Given the description of an element on the screen output the (x, y) to click on. 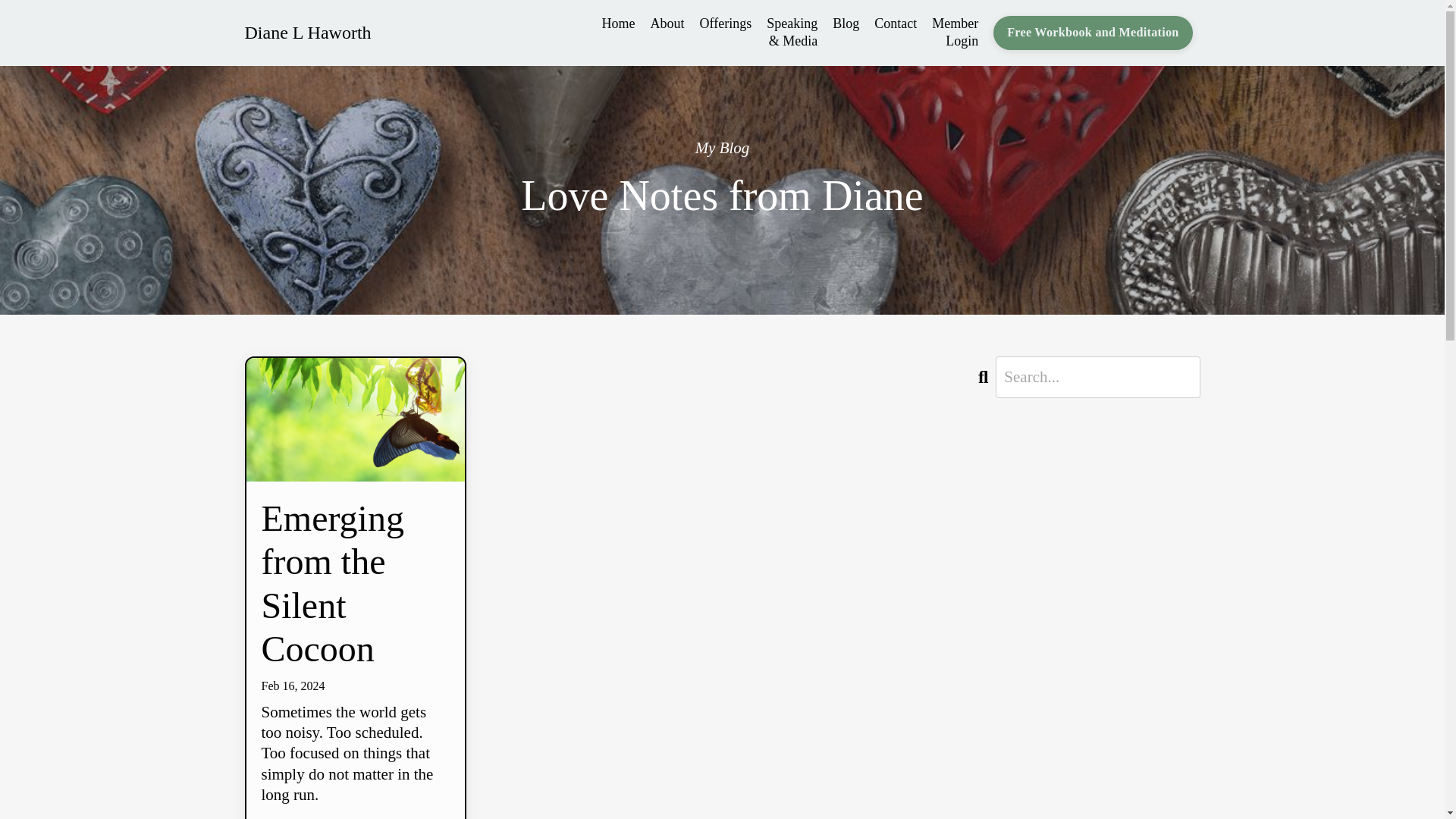
Contact (896, 32)
Free Workbook and Meditation (1092, 32)
Diane L Haworth (307, 32)
Emerging from the Silent Cocoon (354, 583)
Home (618, 32)
Offerings (726, 32)
About (667, 32)
Member Login (954, 32)
